Given the description of an element on the screen output the (x, y) to click on. 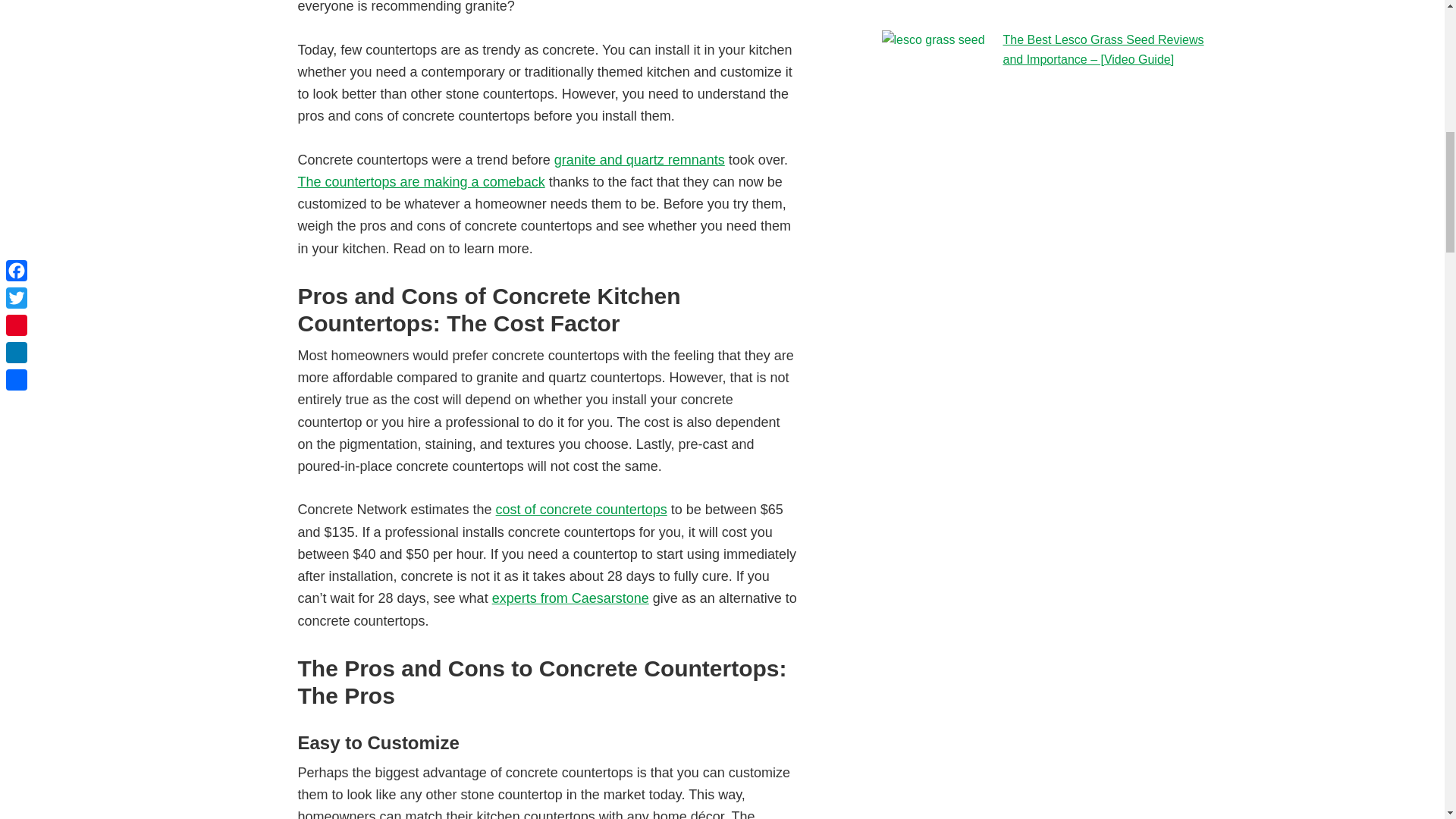
granite and quartz remnants (639, 159)
The countertops are making a comeback (420, 181)
experts from Caesarstone (570, 598)
cost of concrete countertops (581, 509)
